Given the description of an element on the screen output the (x, y) to click on. 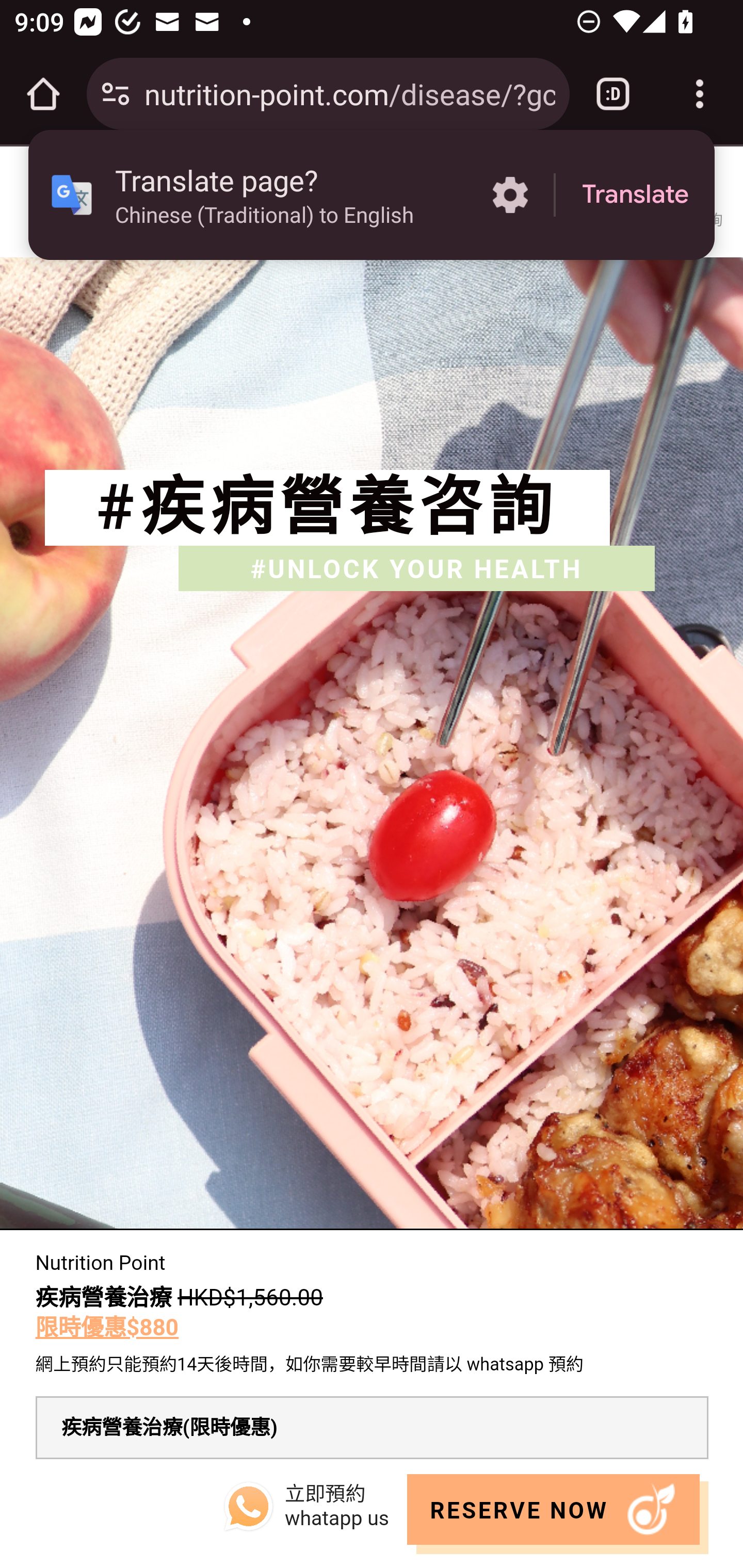
Open the home page (43, 93)
Connection is secure (115, 93)
Switch or close tabs (612, 93)
Customize and control Google Chrome (699, 93)
Translate (634, 195)
More options in the Translate page? (509, 195)
nutrition-point (371, 202)
立即預約 whatapp us 立即預約 whatapp us (304, 1506)
RESERVE NOW (562, 1516)
